Given the description of an element on the screen output the (x, y) to click on. 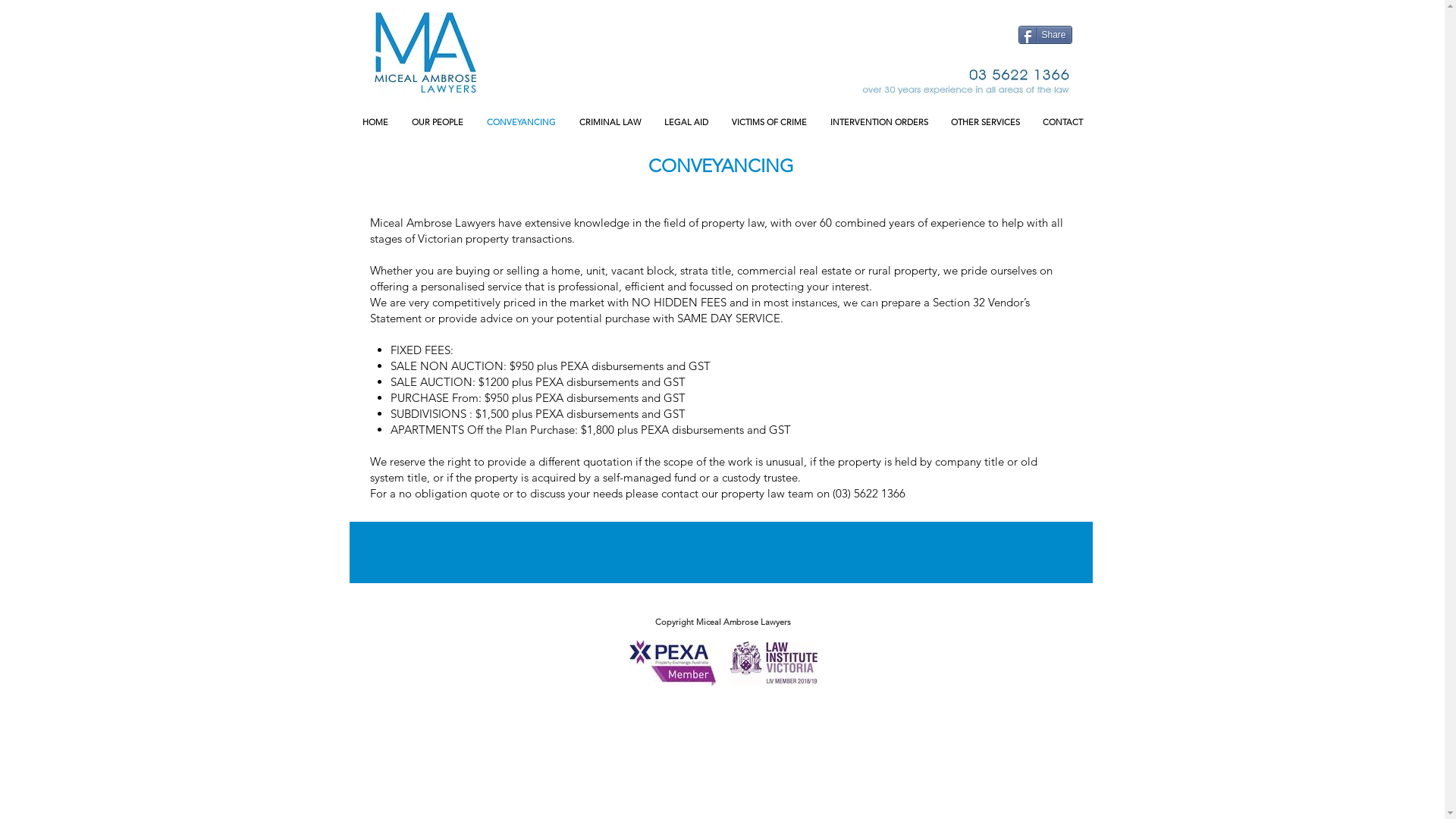
OTHER SERVICES Element type: text (984, 122)
OUR PEOPLE Element type: text (437, 122)
CONTACT Element type: text (1062, 122)
CONVEYANCING Element type: text (520, 122)
CRIMINAL LAW Element type: text (609, 122)
LEGAL AID Element type: text (685, 122)
VICTIMS OF CRIME Element type: text (769, 122)
Share Element type: text (1044, 34)
INTERVENTION ORDERS Element type: text (879, 122)
HOME Element type: text (374, 122)
